Given the description of an element on the screen output the (x, y) to click on. 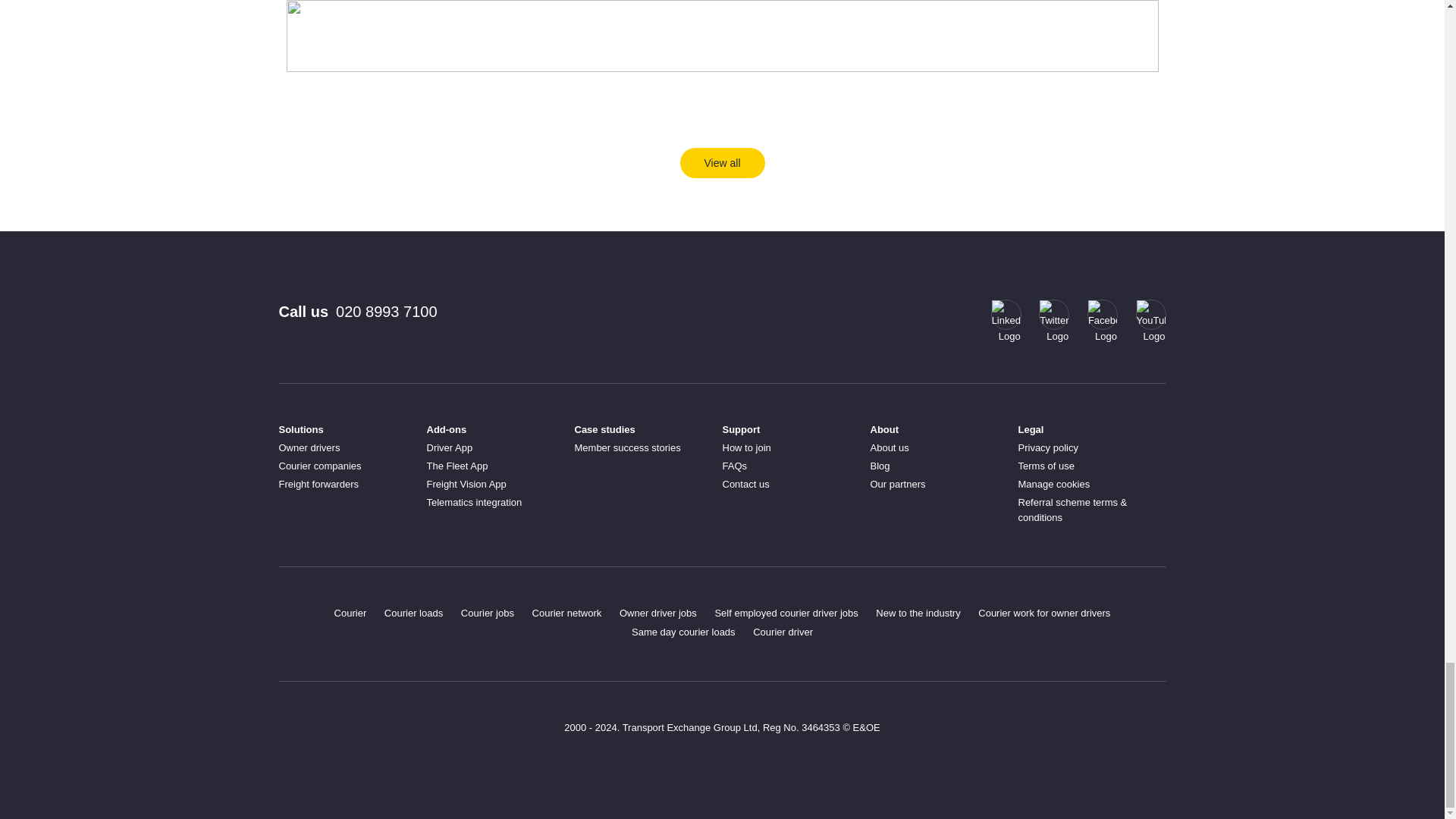
Owner drivers (309, 447)
view all (721, 163)
Freight forwarders (318, 483)
Call us020 8993 7100 (358, 321)
Courier companies (320, 465)
